Given the description of an element on the screen output the (x, y) to click on. 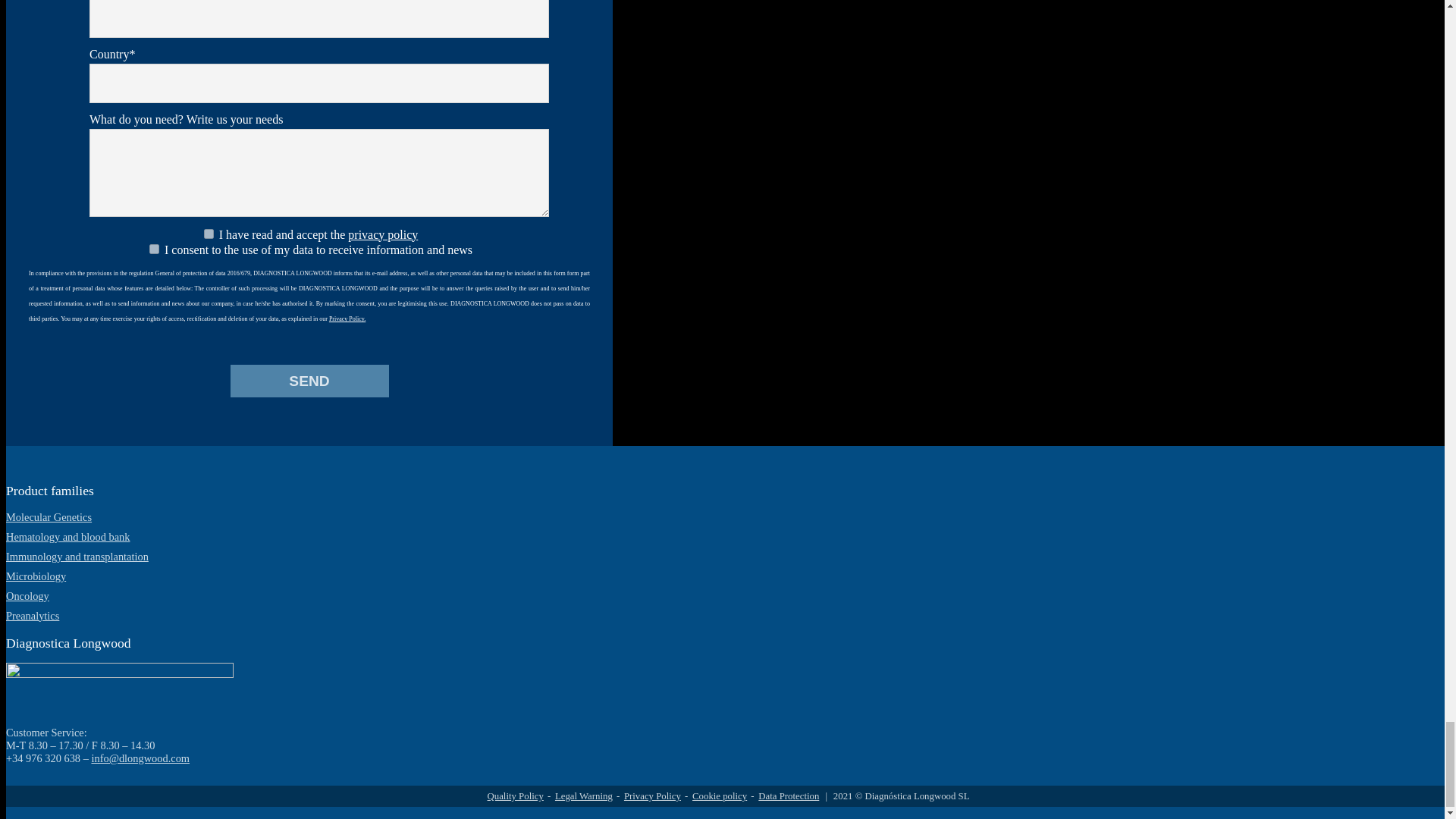
Send (309, 380)
1 (208, 234)
